Given the description of an element on the screen output the (x, y) to click on. 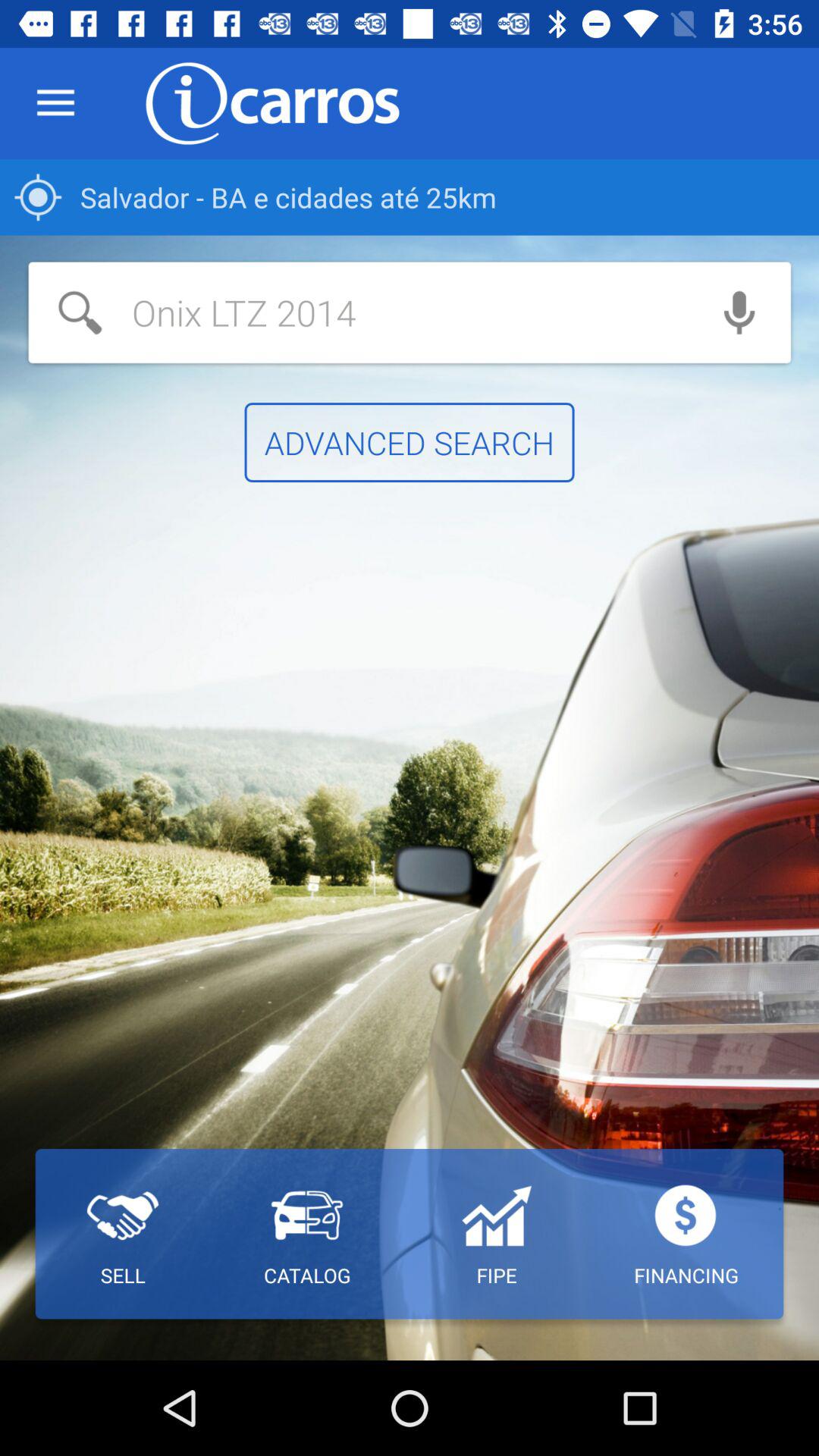
microphone (739, 312)
